Given the description of an element on the screen output the (x, y) to click on. 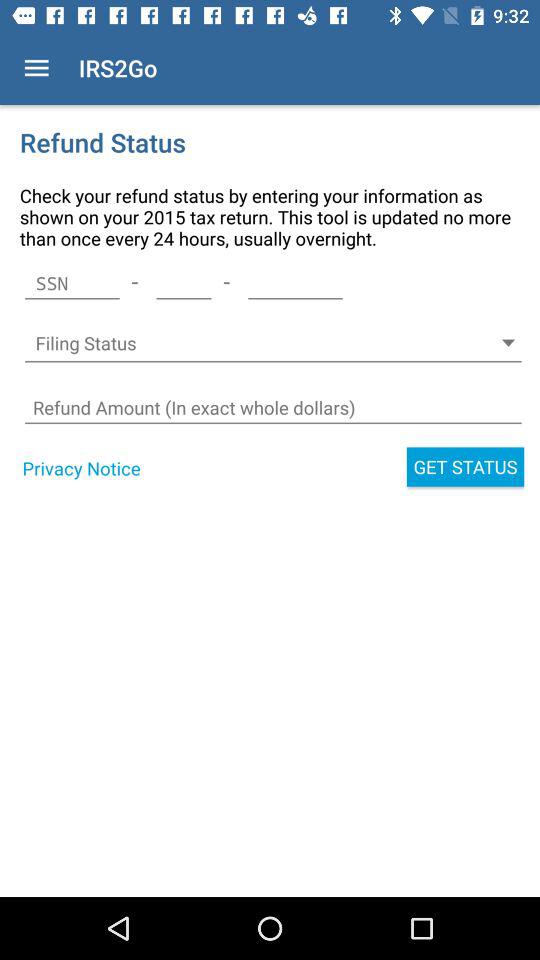
click icon to the left of irs2go item (36, 68)
